Given the description of an element on the screen output the (x, y) to click on. 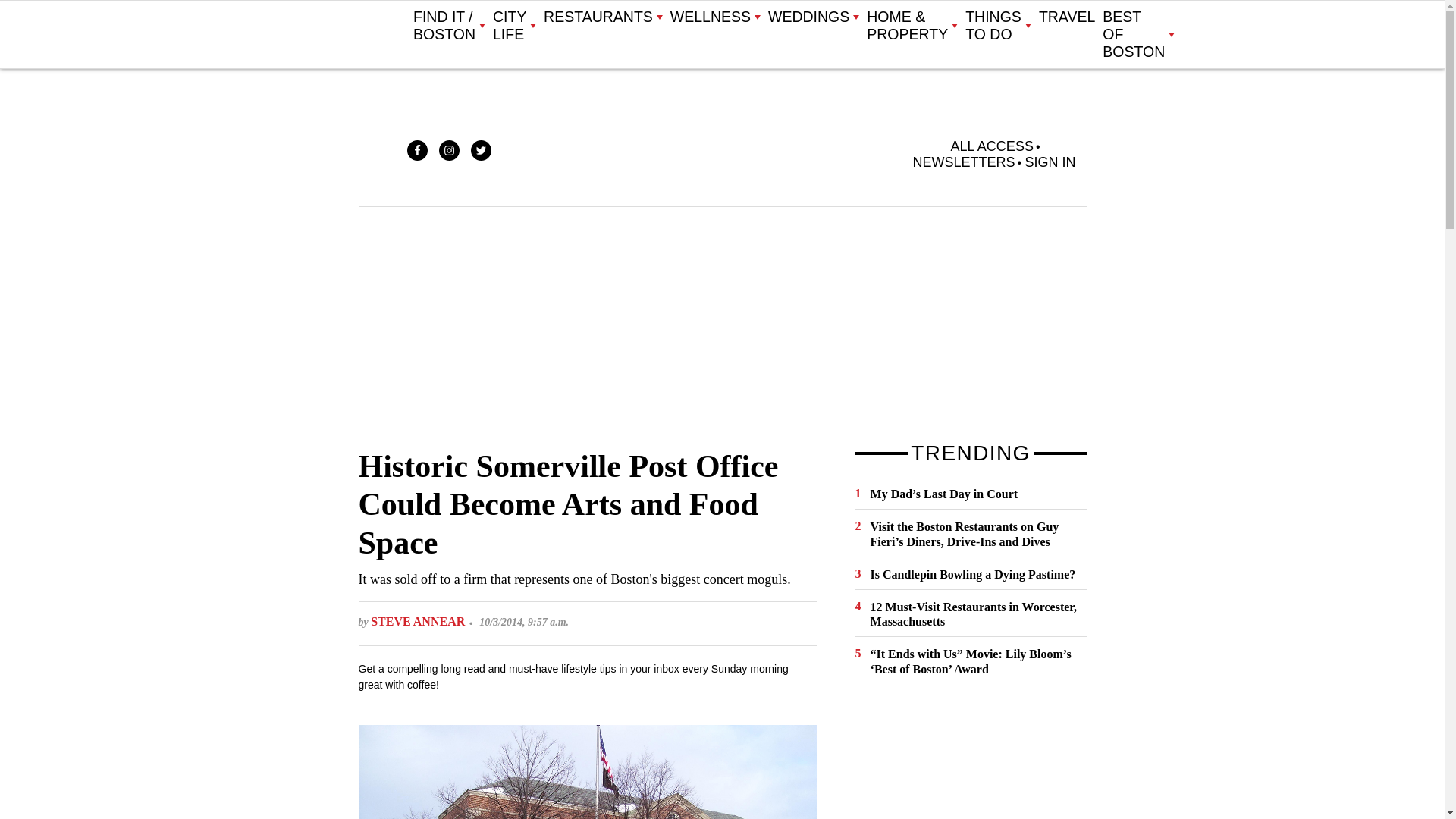
RESTAURANTS (602, 16)
THINGS TO DO (997, 25)
WELLNESS (714, 16)
3rd party ad content (969, 759)
WEDDINGS (813, 16)
